Given the description of an element on the screen output the (x, y) to click on. 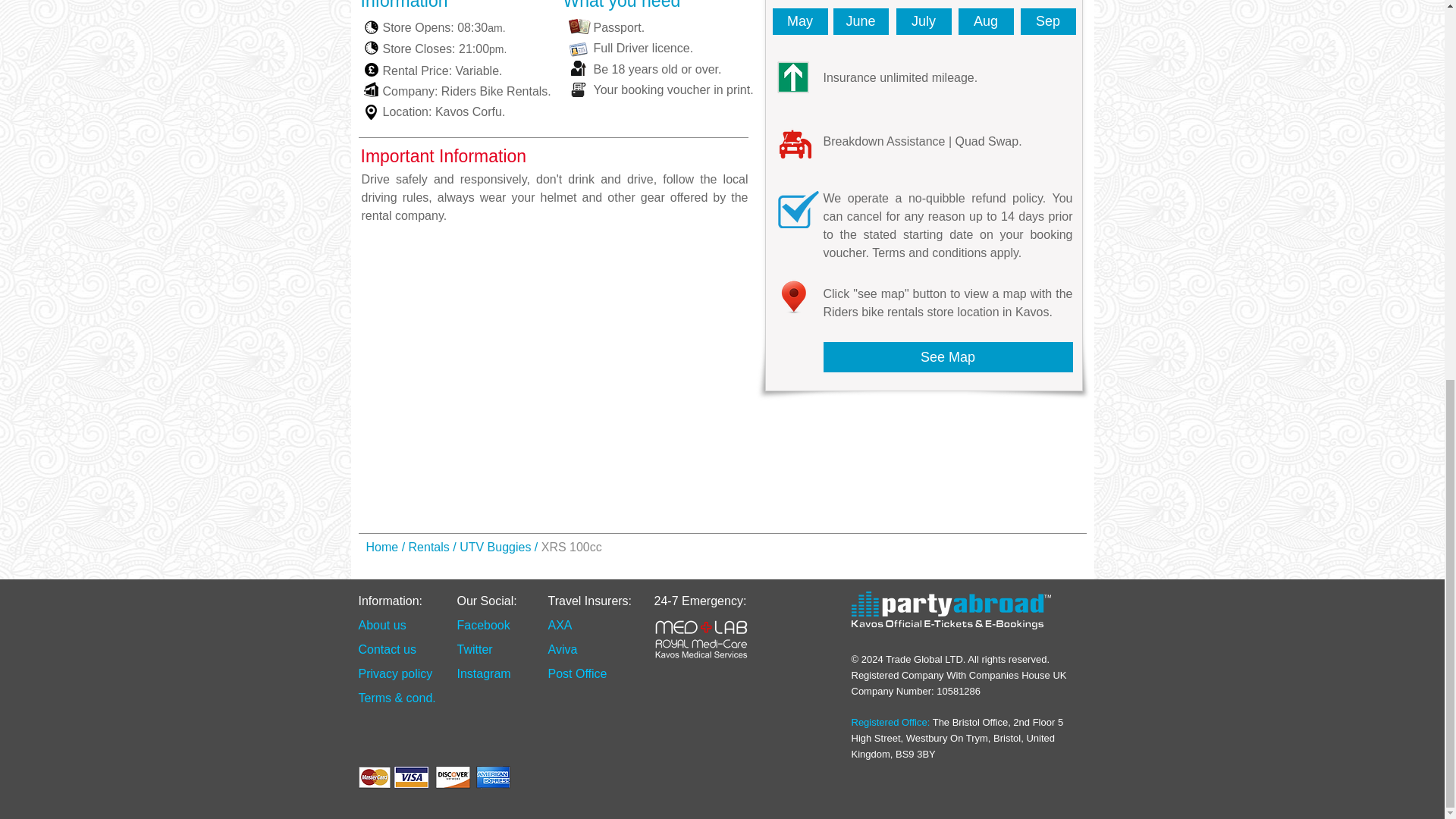
Unlimited Mileage.png (792, 77)
Rentals (429, 546)
Facebook (483, 625)
May (799, 21)
Privacy policy (395, 673)
UTV Buggies (495, 546)
July (924, 21)
Aug (985, 21)
Shop Icon.png (371, 89)
Sep (1047, 21)
Twitter (474, 649)
See Map (948, 357)
Map Pin.png (792, 297)
Kavos Corfu Trip Duration.png (371, 27)
Money Icon Pound.png (370, 69)
